Given the description of an element on the screen output the (x, y) to click on. 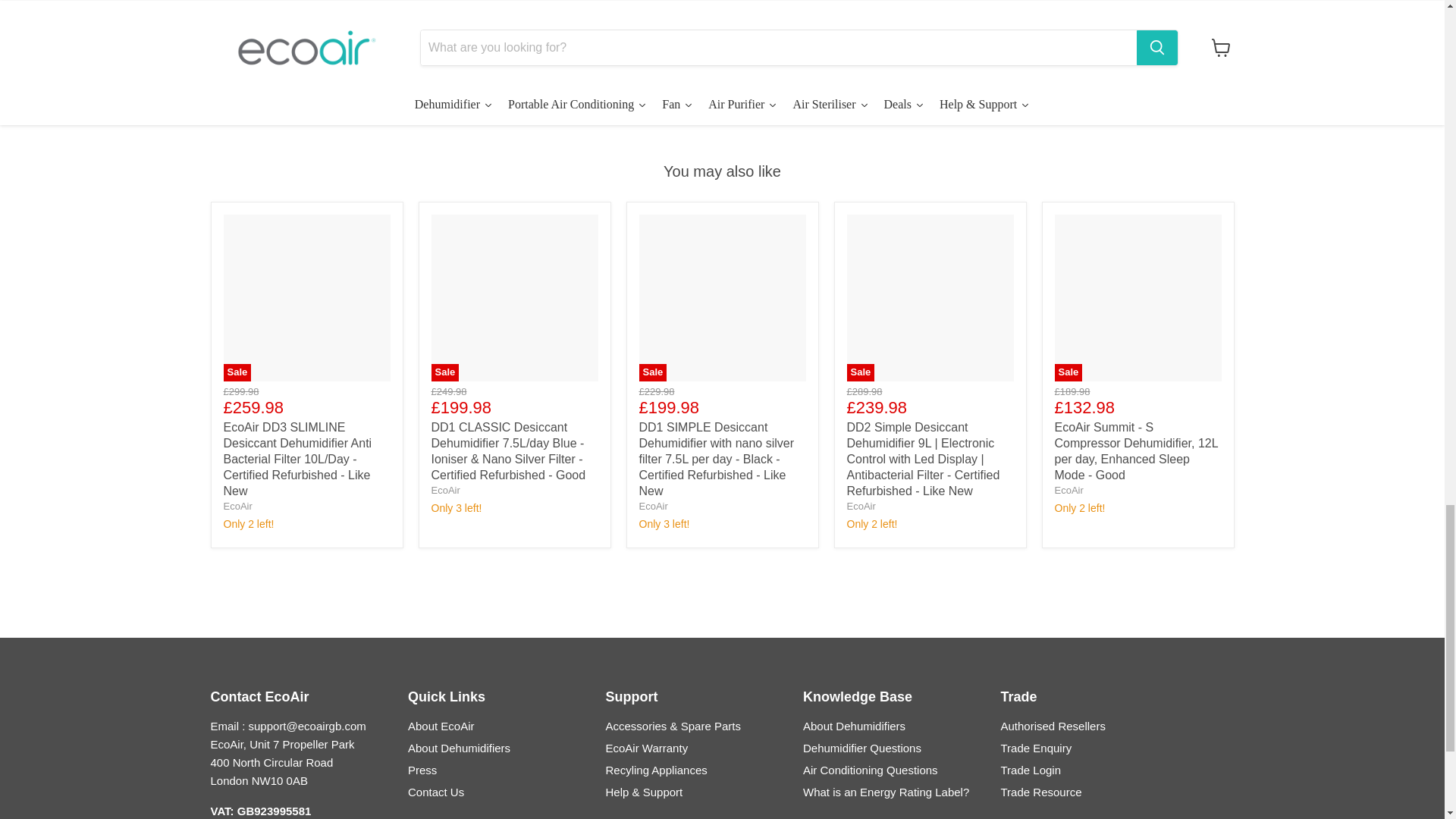
EcoAir (236, 505)
EcoAir (445, 490)
EcoAir (652, 505)
EcoAir (1068, 490)
EcoAir (860, 505)
